Given the description of an element on the screen output the (x, y) to click on. 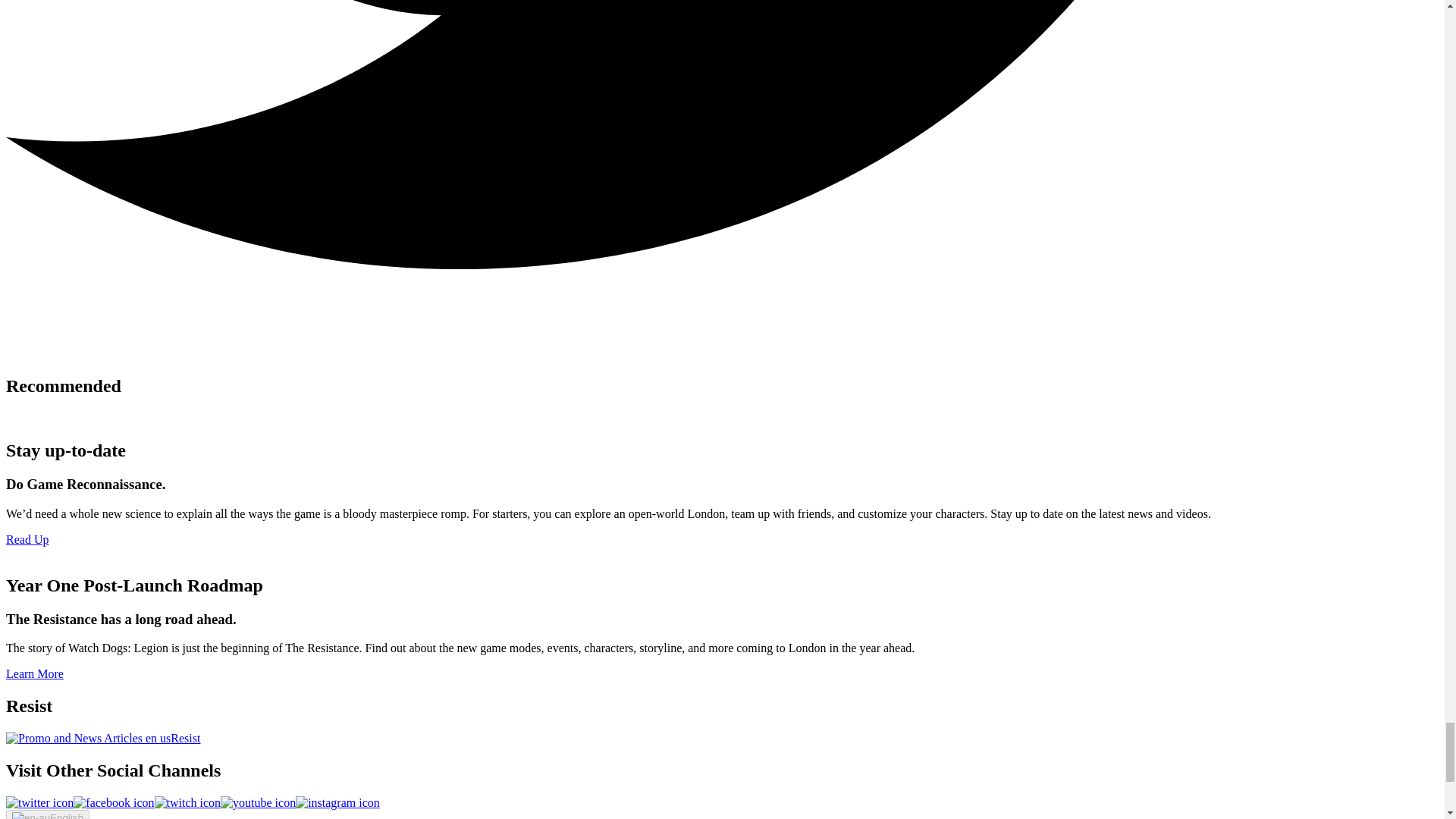
Read Up (26, 539)
Resist (102, 738)
English (46, 814)
Learn More (34, 673)
